Given the description of an element on the screen output the (x, y) to click on. 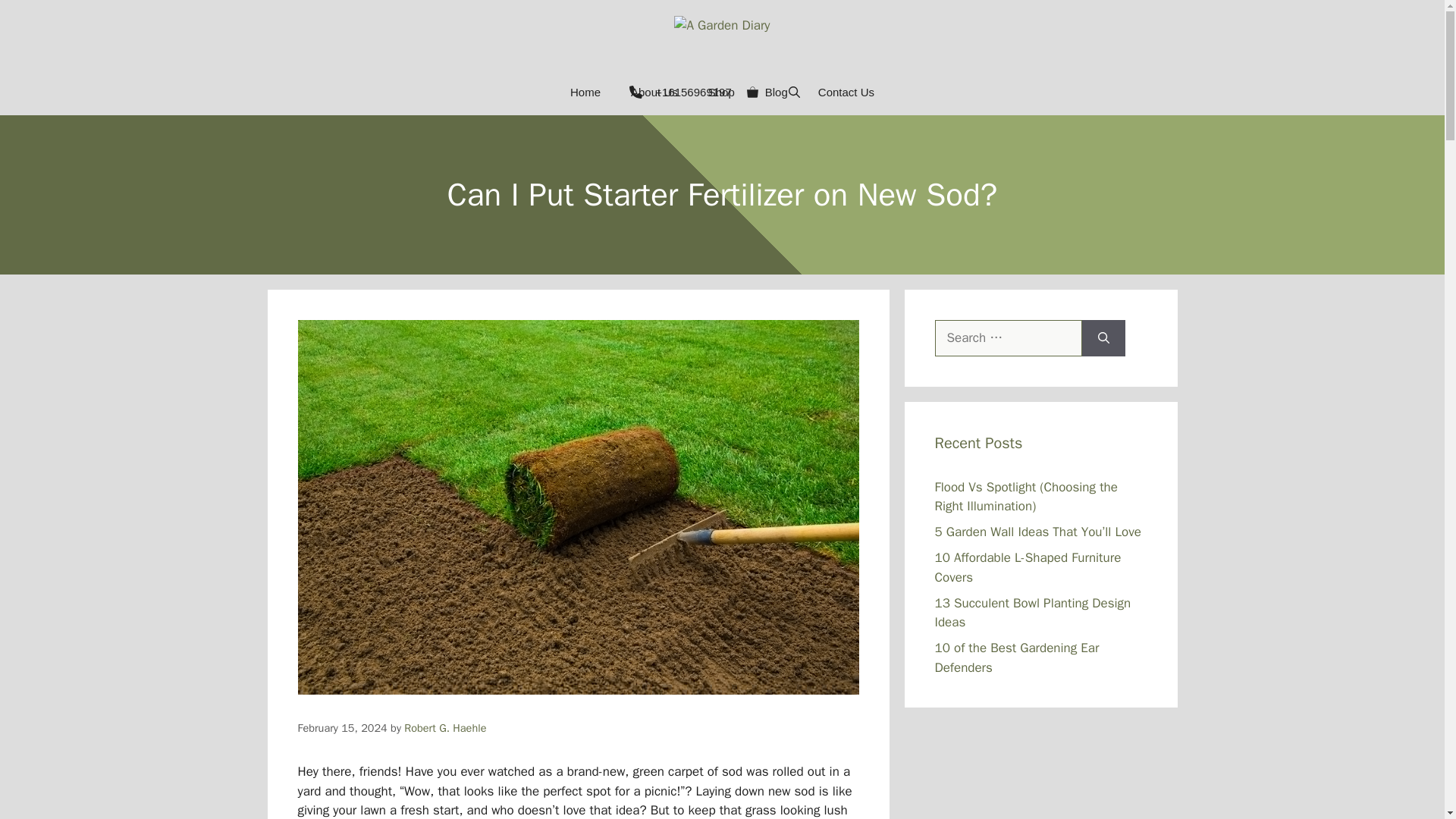
About Us (654, 92)
Shop (721, 92)
View all posts by Robert G. Haehle (445, 727)
Blog (776, 92)
Home (584, 92)
10 of the Best Gardening Ear Defenders (1016, 657)
13 Succulent Bowl Planting Design Ideas (1032, 612)
Contact Us (846, 92)
Robert G. Haehle (445, 727)
10 Affordable L-Shaped Furniture Covers (1027, 567)
Search for: (1007, 338)
View your shopping cart (752, 92)
